Given the description of an element on the screen output the (x, y) to click on. 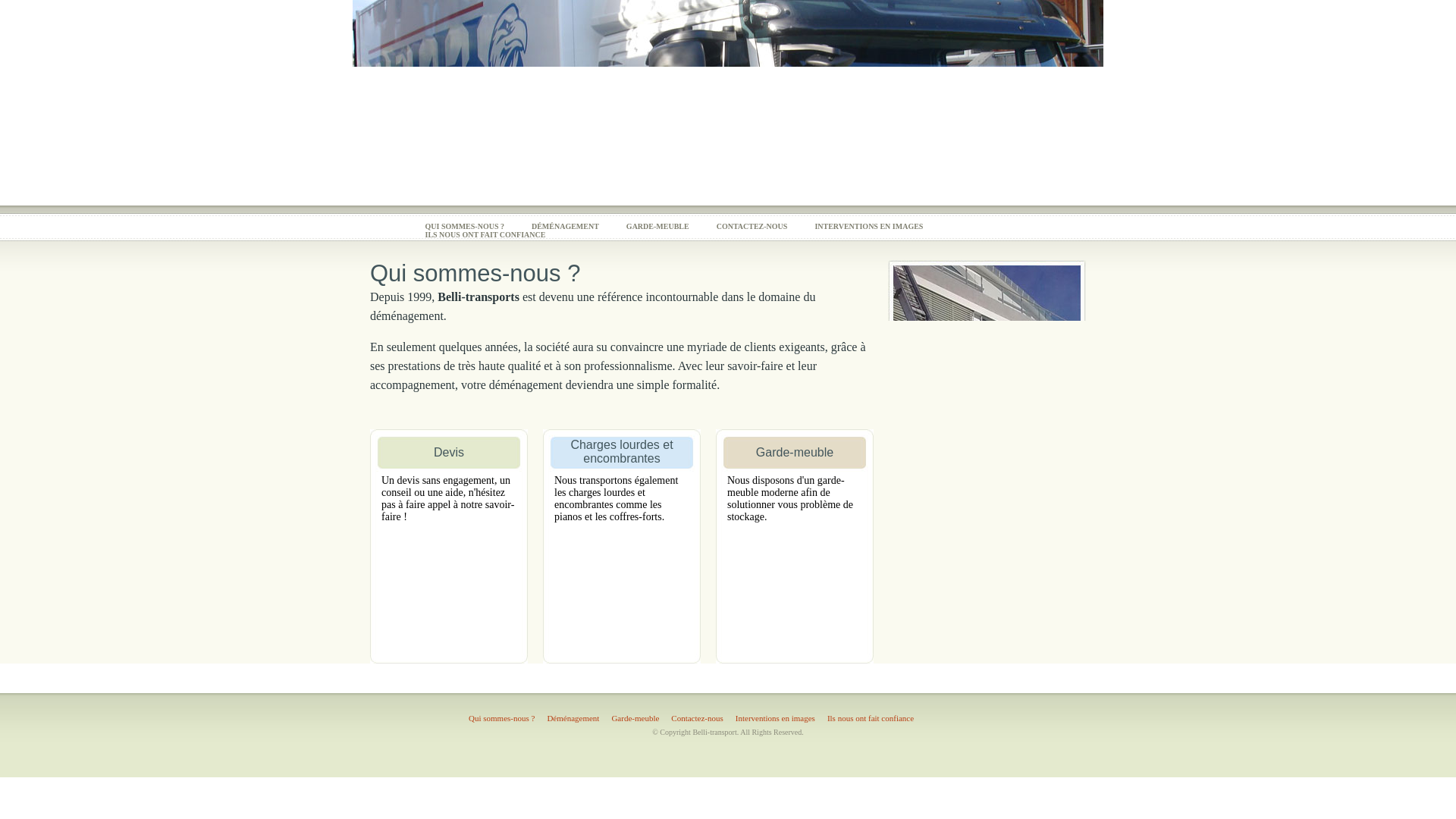
ILS NOUS ONT FAIT CONFIANCE Element type: text (484, 234)
Garde-meuble Element type: text (635, 718)
INTERVENTIONS EN IMAGES Element type: text (868, 226)
Contactez-nous Element type: text (696, 718)
Qui sommes-nous ? Element type: text (501, 718)
Ils nous ont fait confiance Element type: text (870, 718)
QUI SOMMES-NOUS ? Element type: text (464, 226)
GARDE-MEUBLE Element type: text (657, 226)
Interventions en images Element type: text (775, 718)
CONTACTEZ-NOUS Element type: text (751, 226)
